Given the description of an element on the screen output the (x, y) to click on. 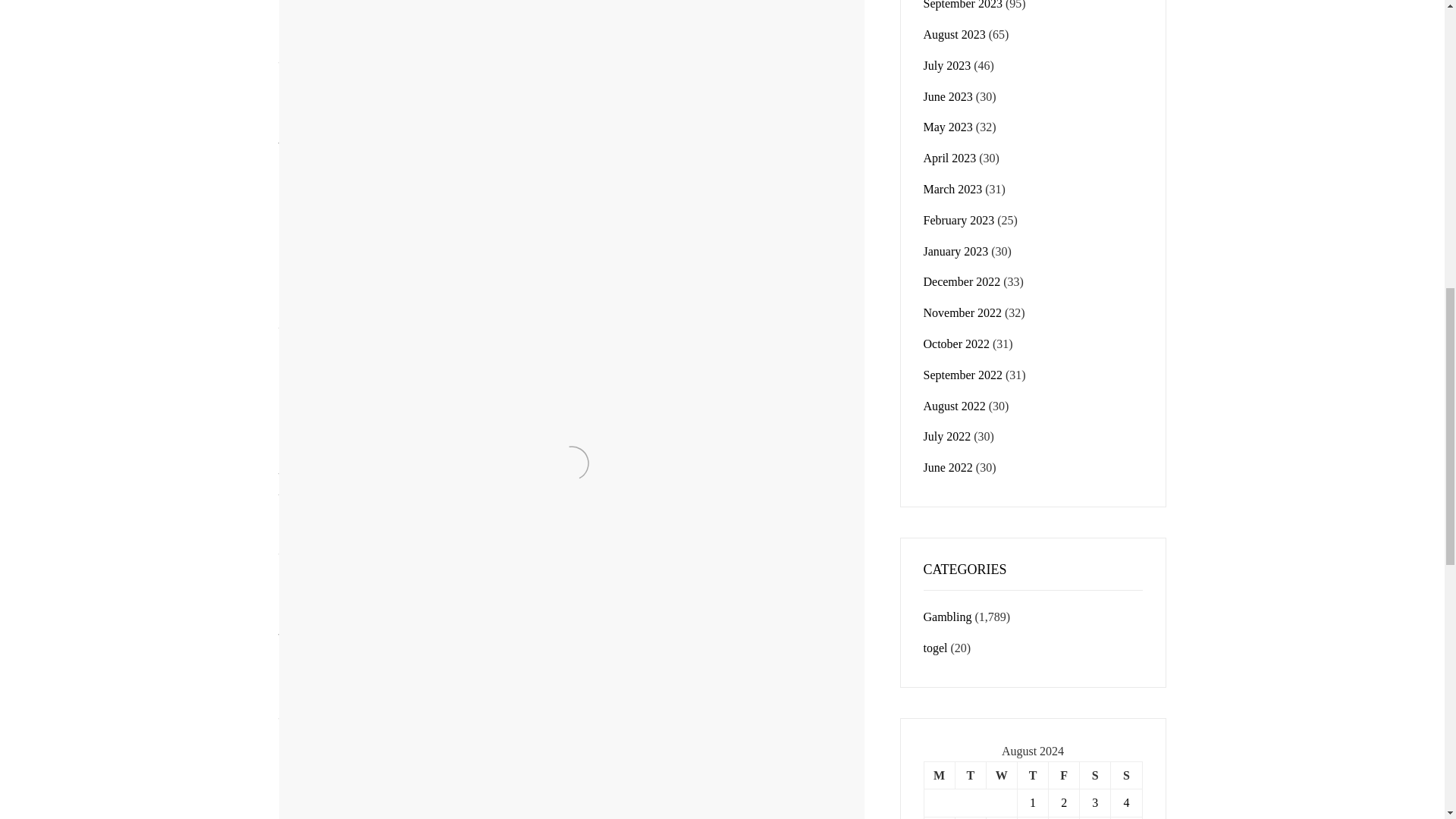
Friday (1064, 775)
August 2023 (954, 33)
Sunday (1125, 775)
September 2023 (963, 4)
May 2023 (947, 126)
Thursday (1032, 775)
January 2023 (955, 250)
Monday (939, 775)
July 2023 (947, 65)
June 2023 (947, 96)
